Given the description of an element on the screen output the (x, y) to click on. 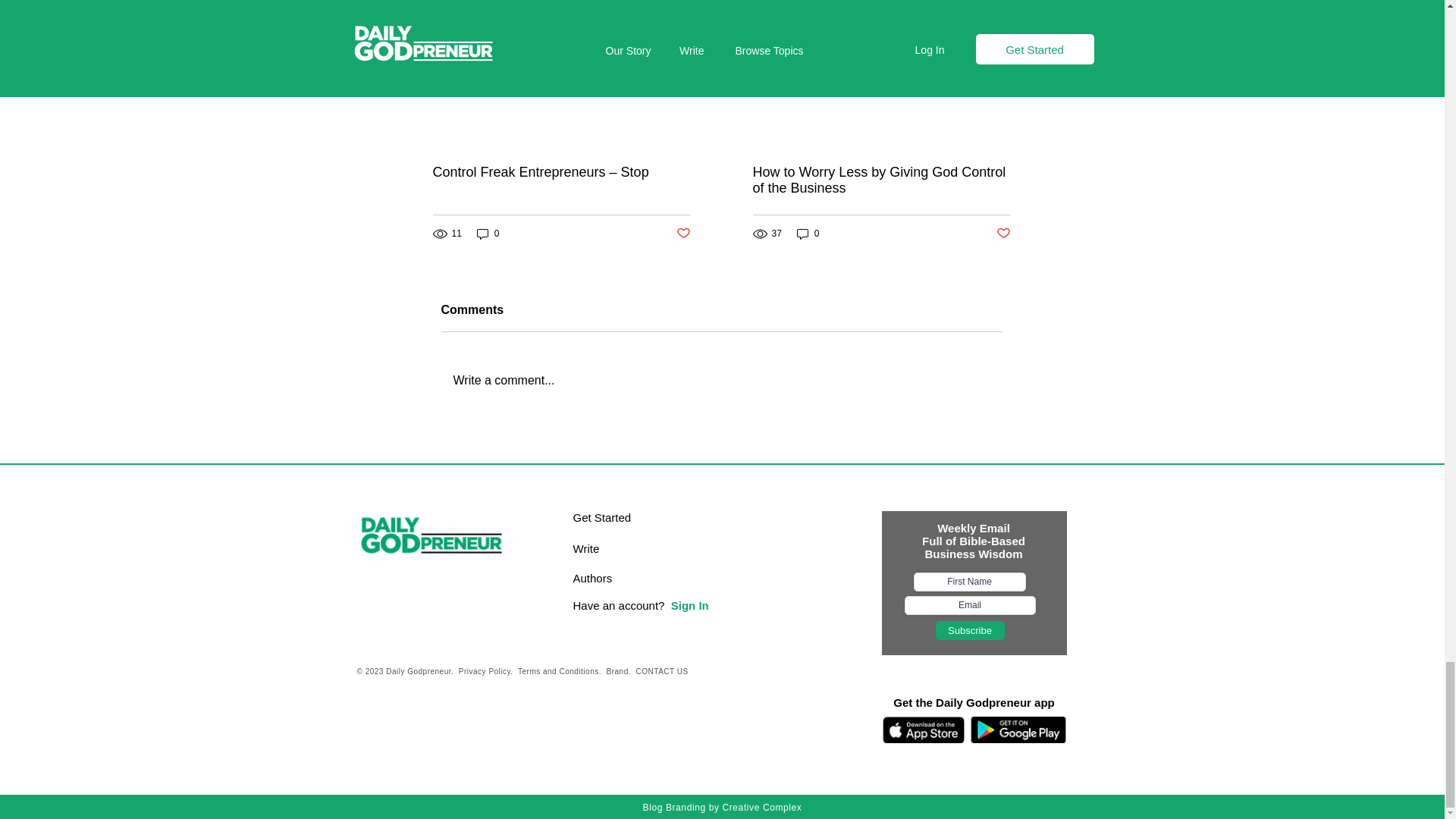
Facebook Like (451, 720)
